Given the description of an element on the screen output the (x, y) to click on. 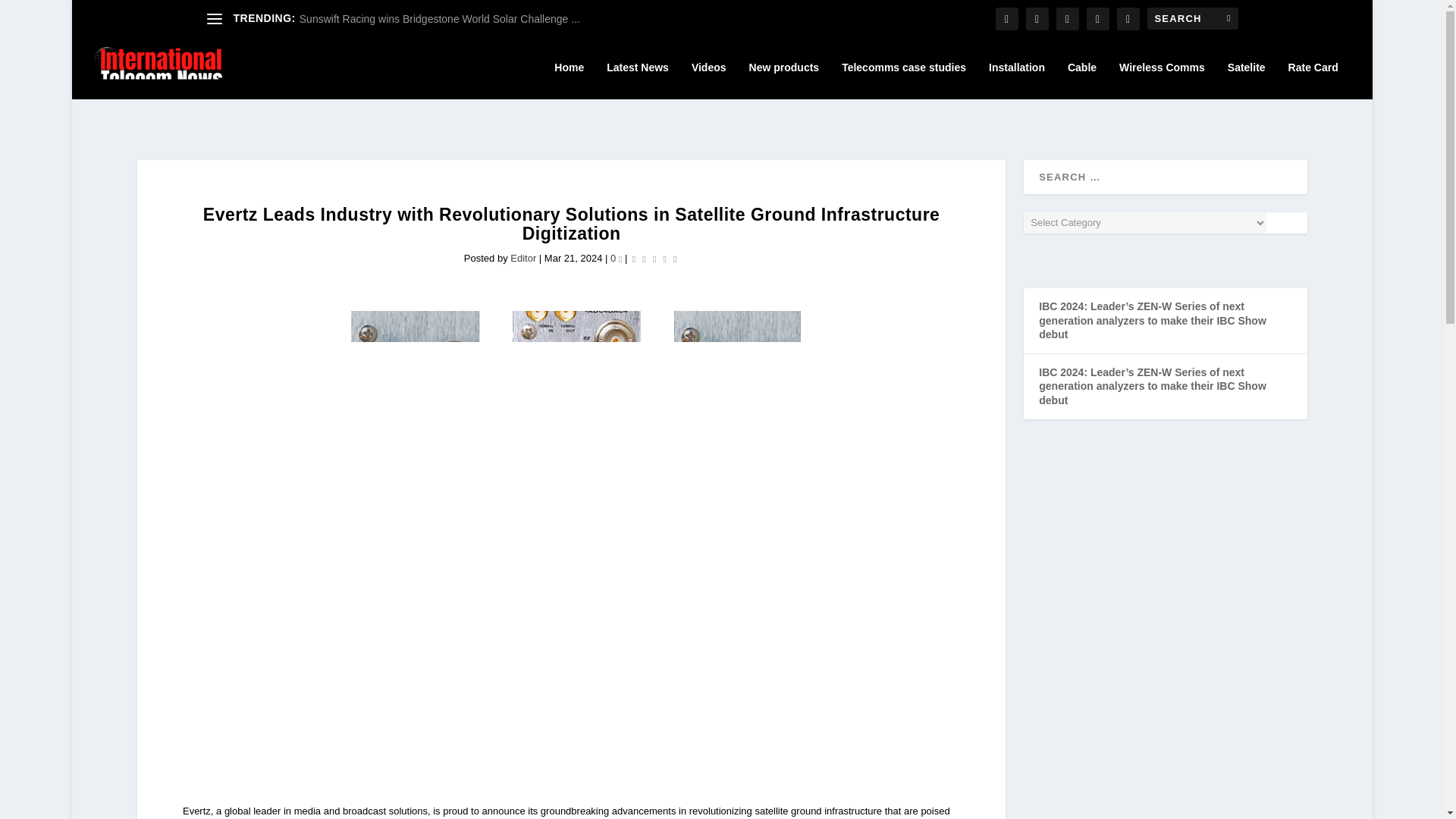
Wireless Comms (1162, 80)
Latest News (637, 80)
0 (615, 257)
Posts by Editor (523, 257)
Editor (523, 257)
Videos (708, 80)
Installation (1016, 80)
Telecomms case studies (903, 80)
Sunswift Racing wins Bridgestone World Solar Challenge ... (439, 19)
New products (784, 80)
Rating: 0.00 (654, 258)
Search for: (1192, 18)
Satelite (1246, 80)
